Given the description of an element on the screen output the (x, y) to click on. 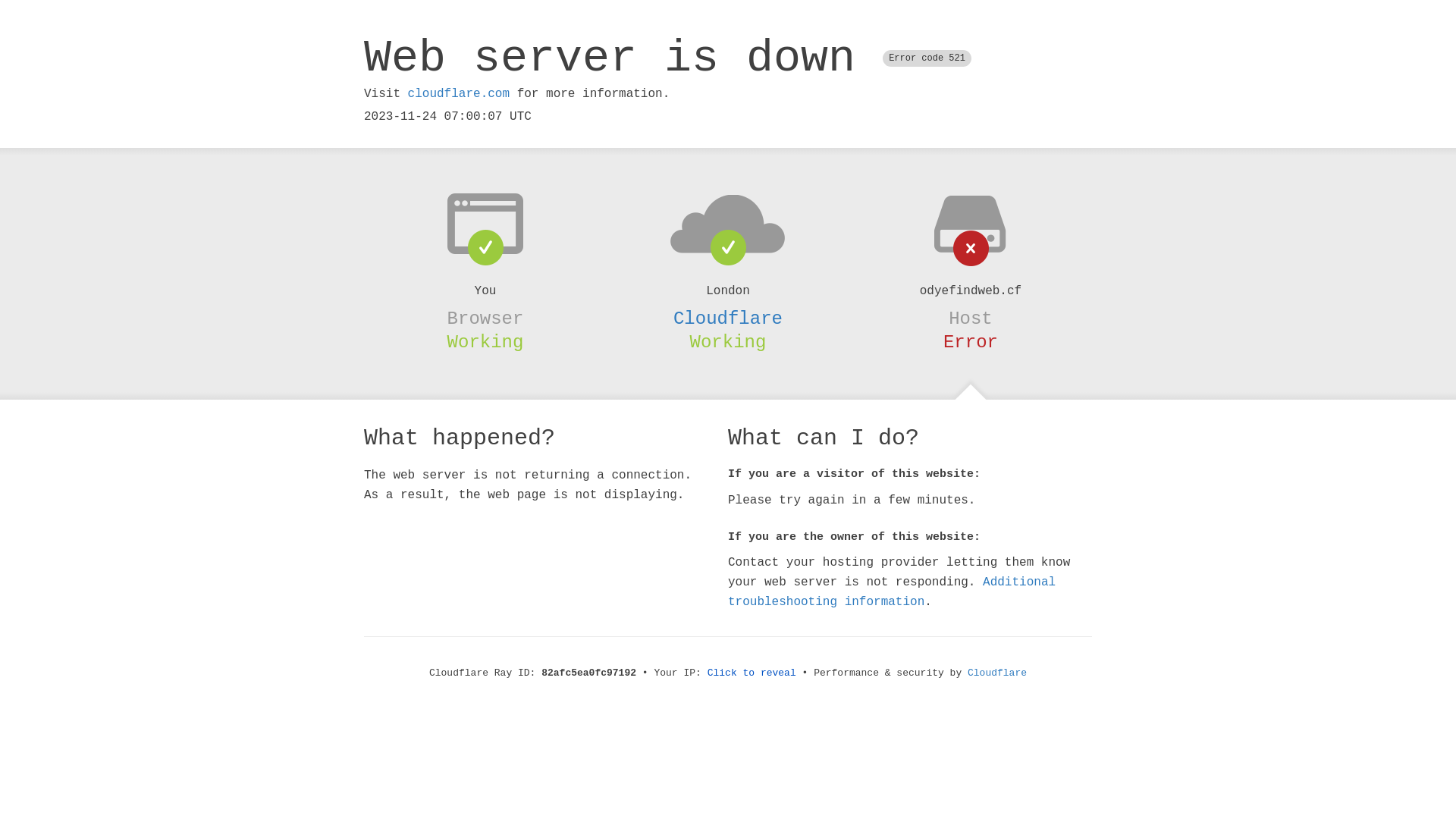
Click to reveal Element type: text (751, 672)
Additional troubleshooting information Element type: text (891, 591)
Cloudflare Element type: text (996, 672)
cloudflare.com Element type: text (458, 93)
Cloudflare Element type: text (727, 318)
